Given the description of an element on the screen output the (x, y) to click on. 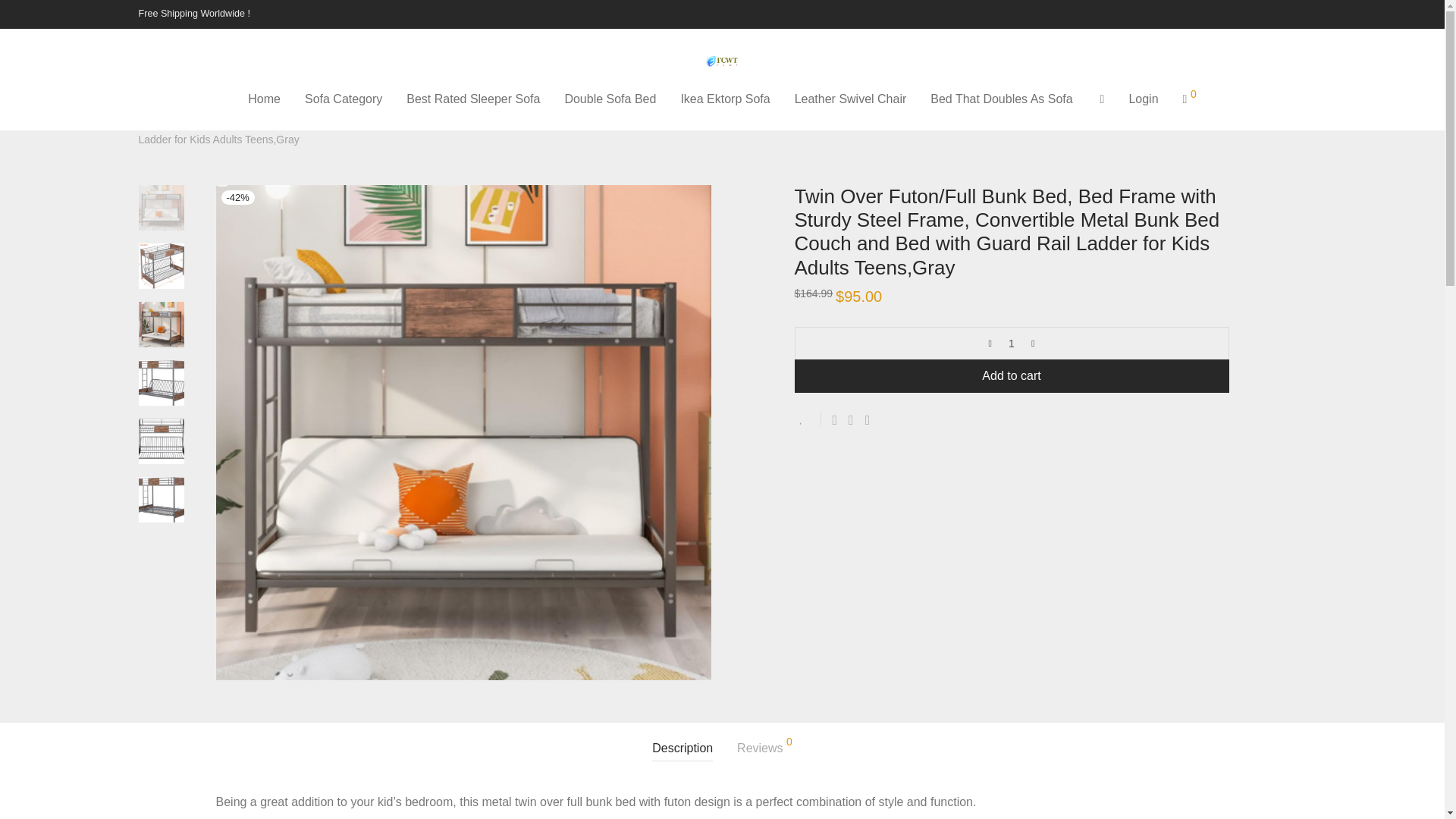
Add to Wishlist (807, 418)
Reviews 0 (764, 748)
Pin on Pinterest (867, 419)
Description (682, 748)
Login (1143, 99)
Share on Facebook (835, 419)
Share on Twitter (850, 419)
Best Rated Sleeper Sofa (472, 99)
Sofa Category (214, 117)
Sofa Category (343, 99)
Home (151, 117)
Double Sofa Bed (609, 99)
Ikea Ektorp Sofa (724, 99)
Bunk Bed With Futon (311, 117)
Leather Swivel Chair (850, 99)
